Given the description of an element on the screen output the (x, y) to click on. 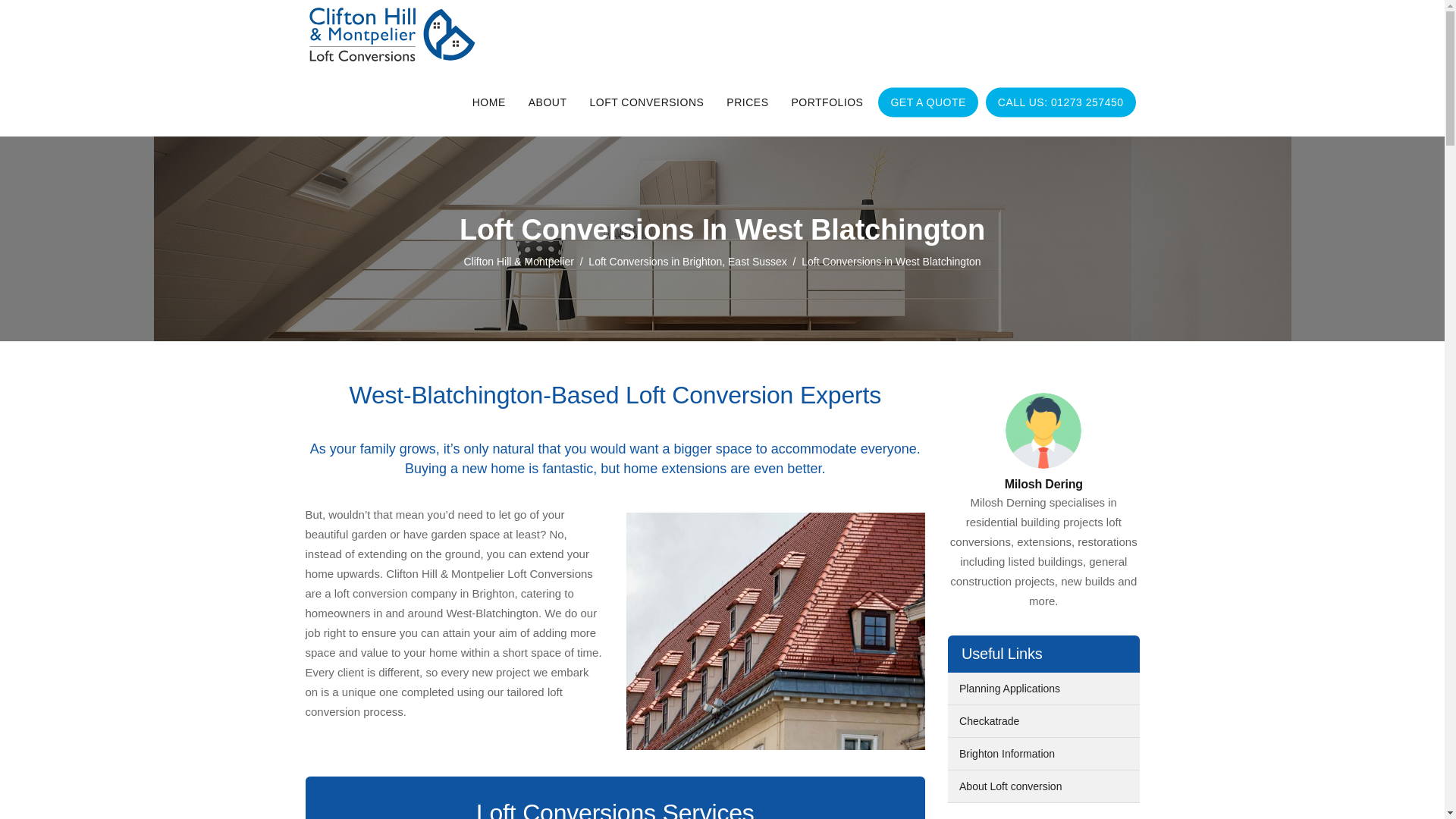
PRICES (746, 101)
ABOUT (547, 101)
PORTFOLIOS (826, 101)
CALL US: 01273 257450 (1060, 101)
Loft Conversions in Brighton, East Sussex (687, 261)
HOME (488, 101)
LOFT CONVERSIONS (646, 101)
GET A QUOTE (928, 101)
